Given the description of an element on the screen output the (x, y) to click on. 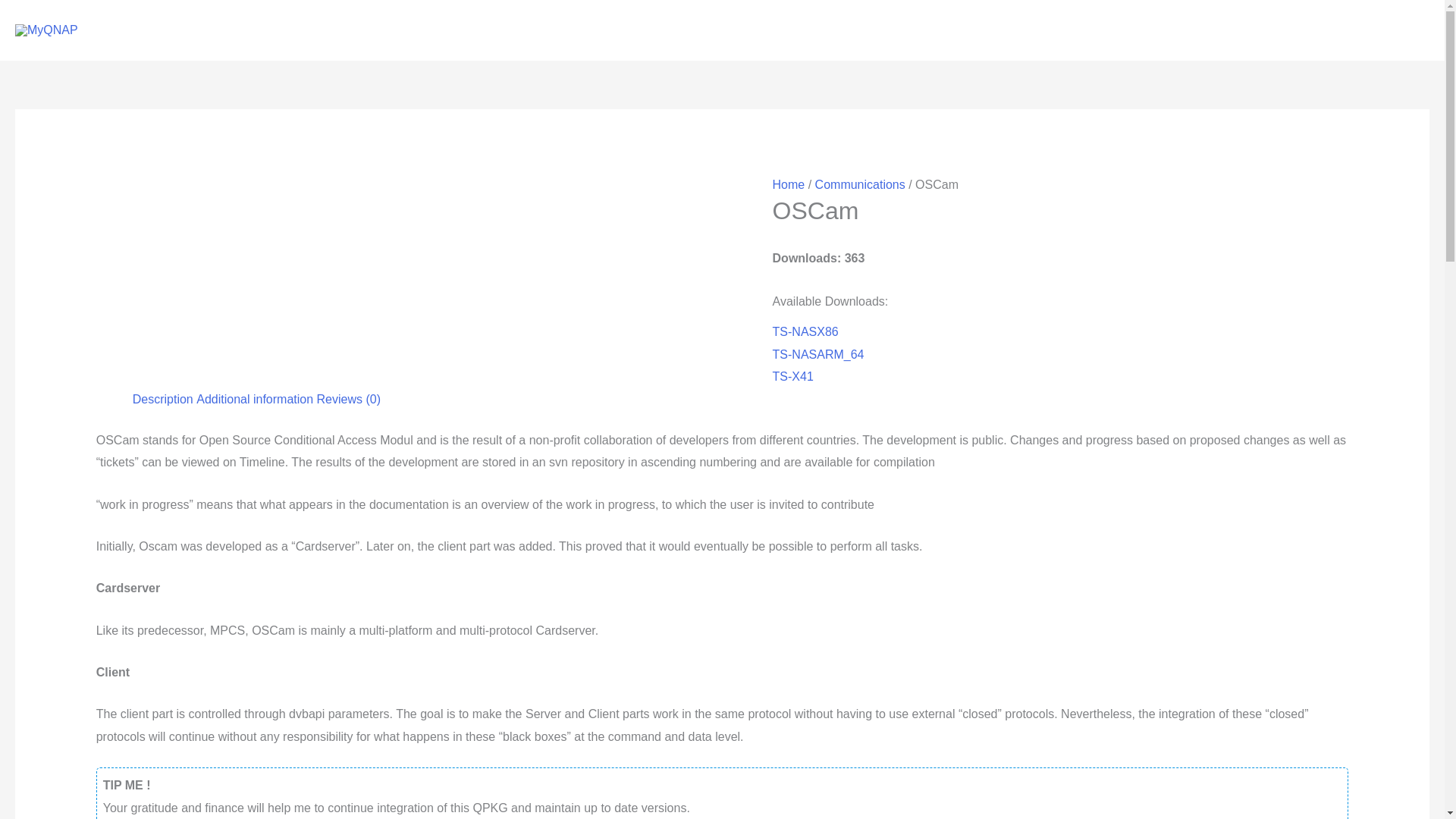
Discord (1169, 30)
Communications (860, 184)
TS-X41 (793, 376)
TS-NASX86 (805, 331)
Install the REPO (989, 30)
News (1095, 30)
Additional information (254, 399)
Home (789, 184)
Archives (1256, 30)
Description (162, 399)
Applications (861, 30)
